Given the description of an element on the screen output the (x, y) to click on. 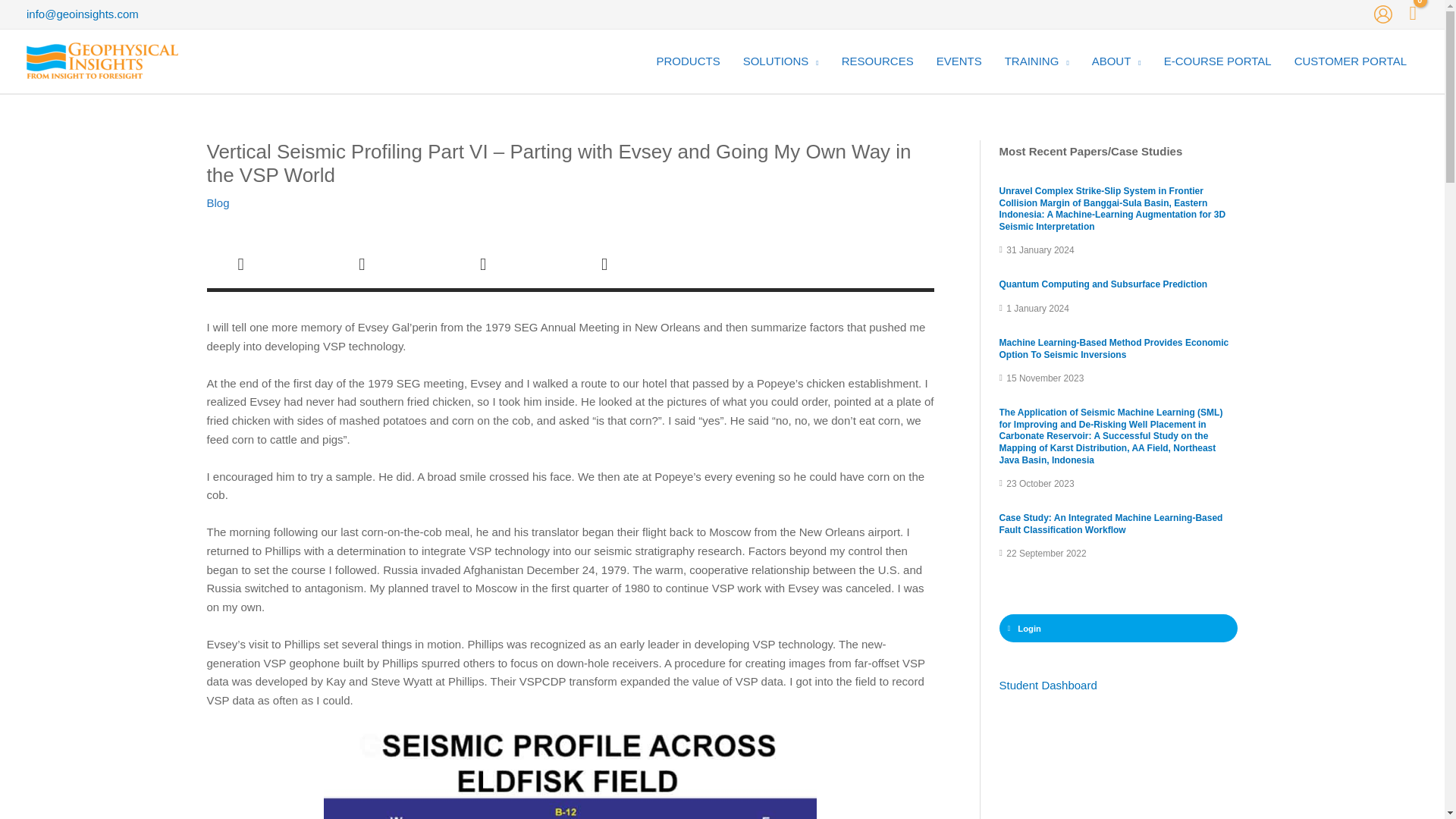
RESOURCES (876, 61)
TRAINING (1036, 61)
E-COURSE PORTAL (1217, 61)
PRODUCTS (687, 61)
CUSTOMER PORTAL (1350, 61)
SOLUTIONS (780, 61)
EVENTS (958, 61)
ABOUT (1116, 61)
